Given the description of an element on the screen output the (x, y) to click on. 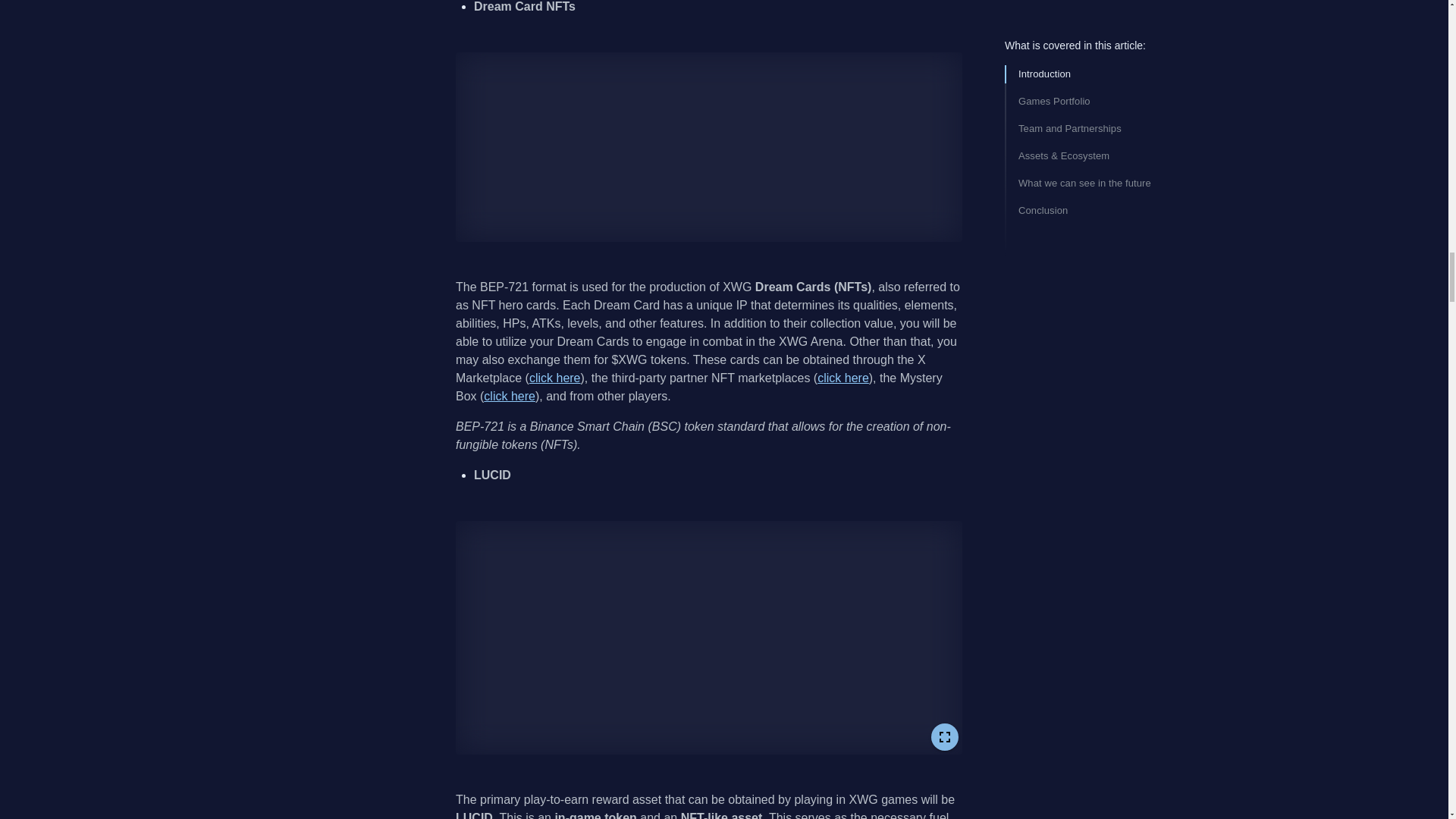
click here (509, 395)
click here (554, 377)
click here (842, 377)
